Given the description of an element on the screen output the (x, y) to click on. 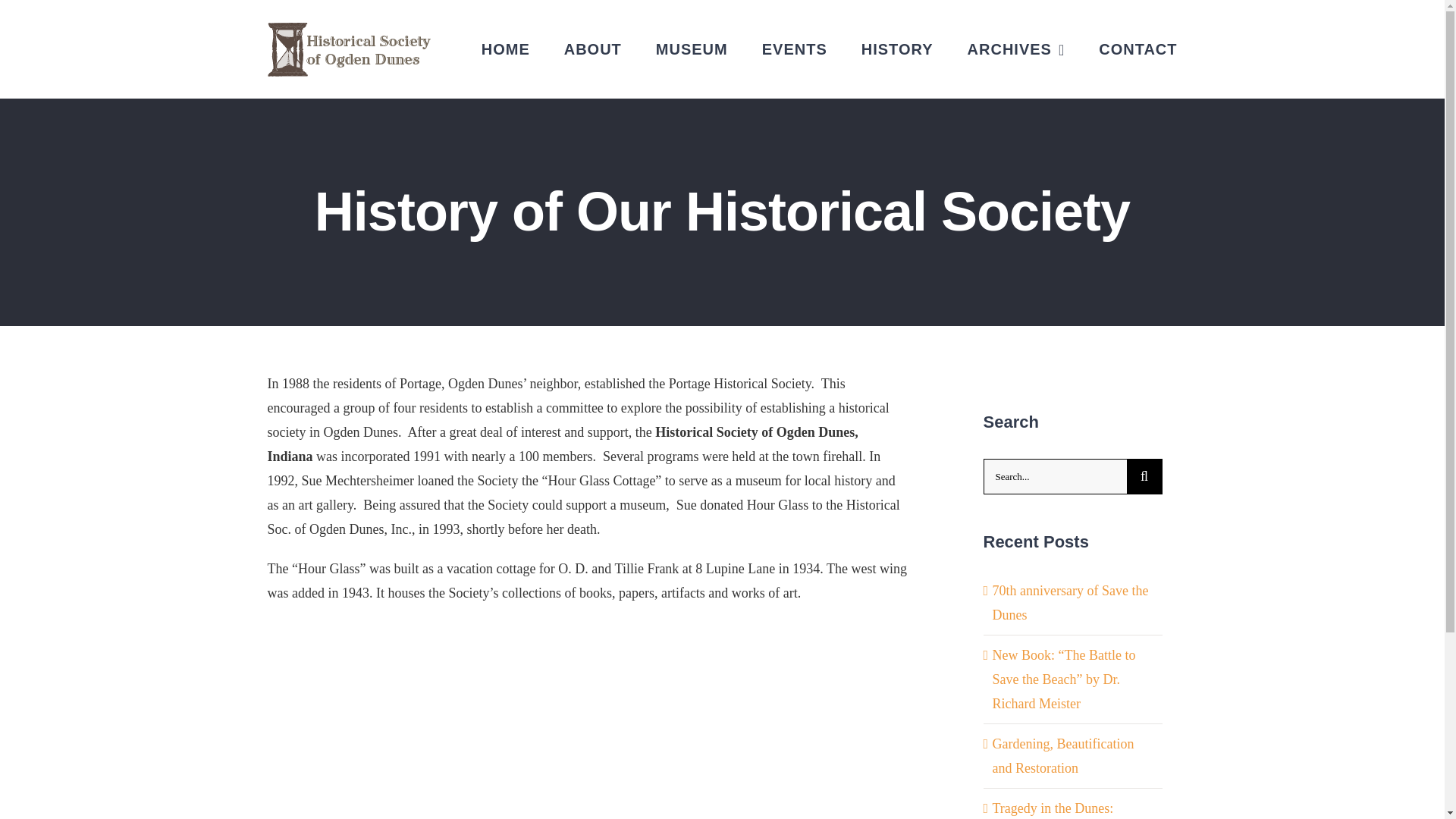
MUSEUM (692, 49)
CONTACT (1137, 49)
ABOUT (592, 49)
HISTORY (897, 49)
70th anniversary of Save the Dunes (1069, 602)
EVENTS (794, 49)
Gardening, Beautification and Restoration (1062, 755)
HOME (505, 49)
Tragedy in the Dunes: Historical Note (1052, 809)
ARCHIVES (1016, 49)
